Given the description of an element on the screen output the (x, y) to click on. 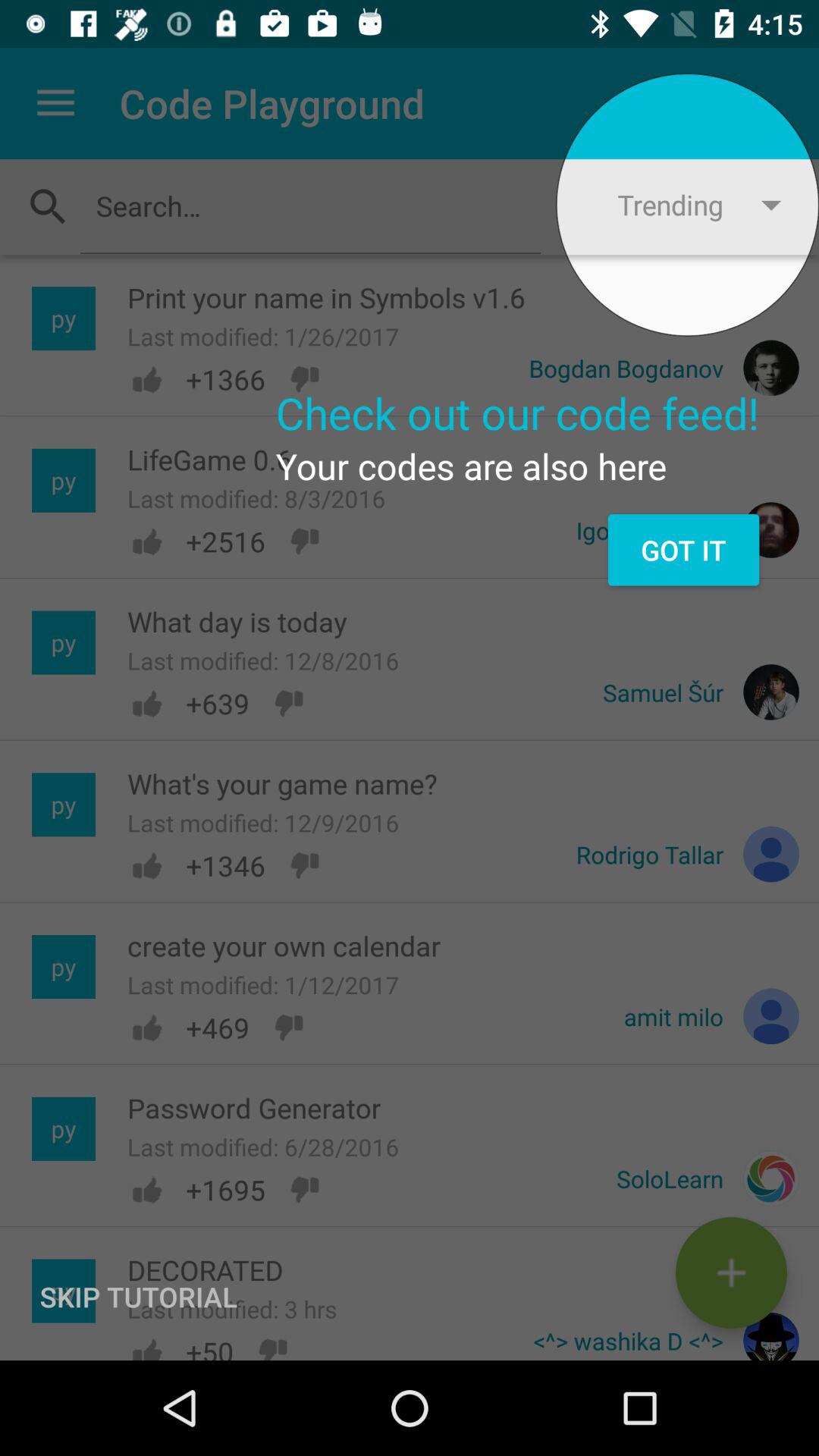
search (310, 205)
